Given the description of an element on the screen output the (x, y) to click on. 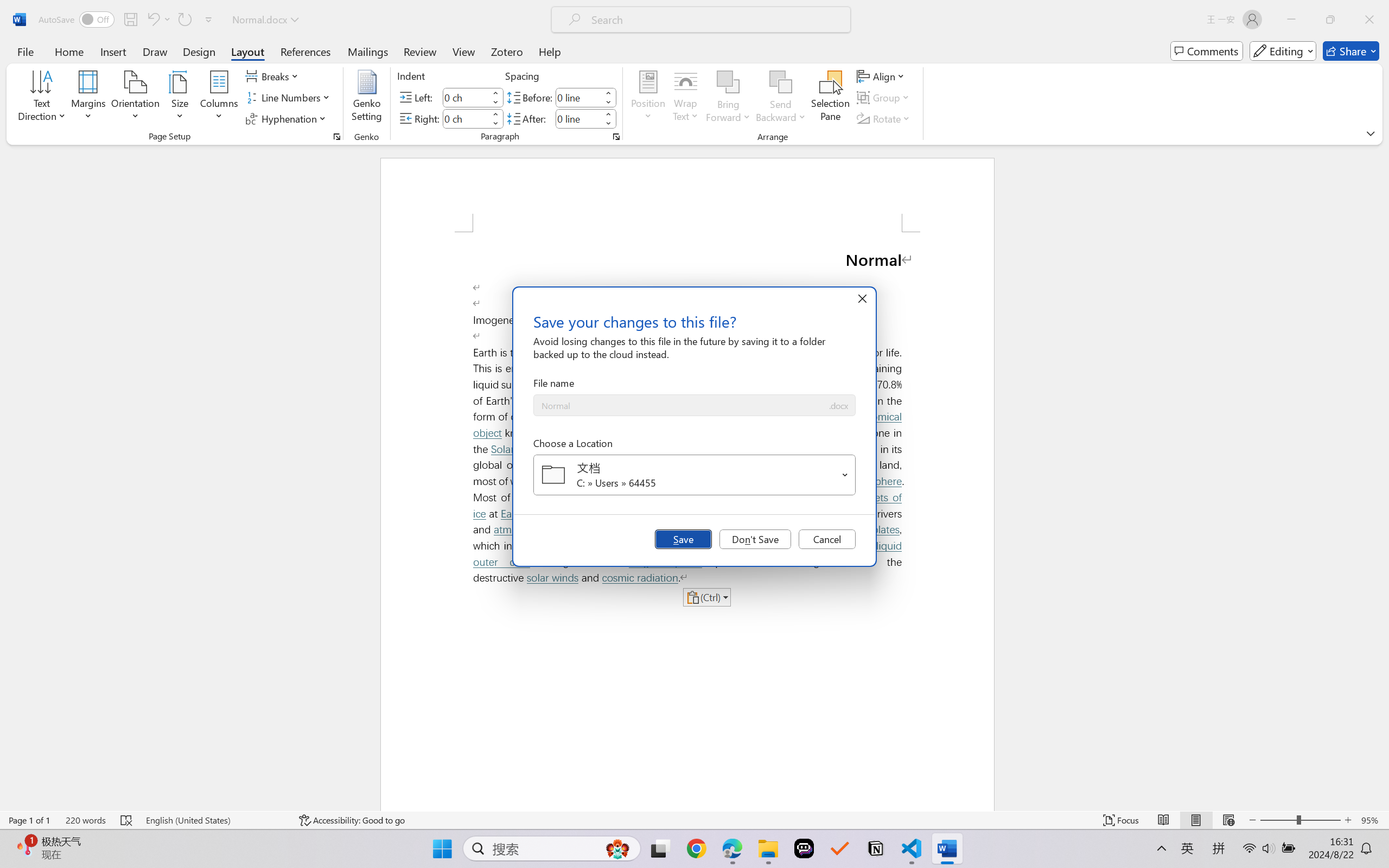
Repeat Paste Option (184, 19)
Columns (219, 97)
Save as type (837, 405)
Bring Forward (728, 97)
Send Backward (781, 97)
Cancel (826, 538)
Poe (804, 848)
